Given the description of an element on the screen output the (x, y) to click on. 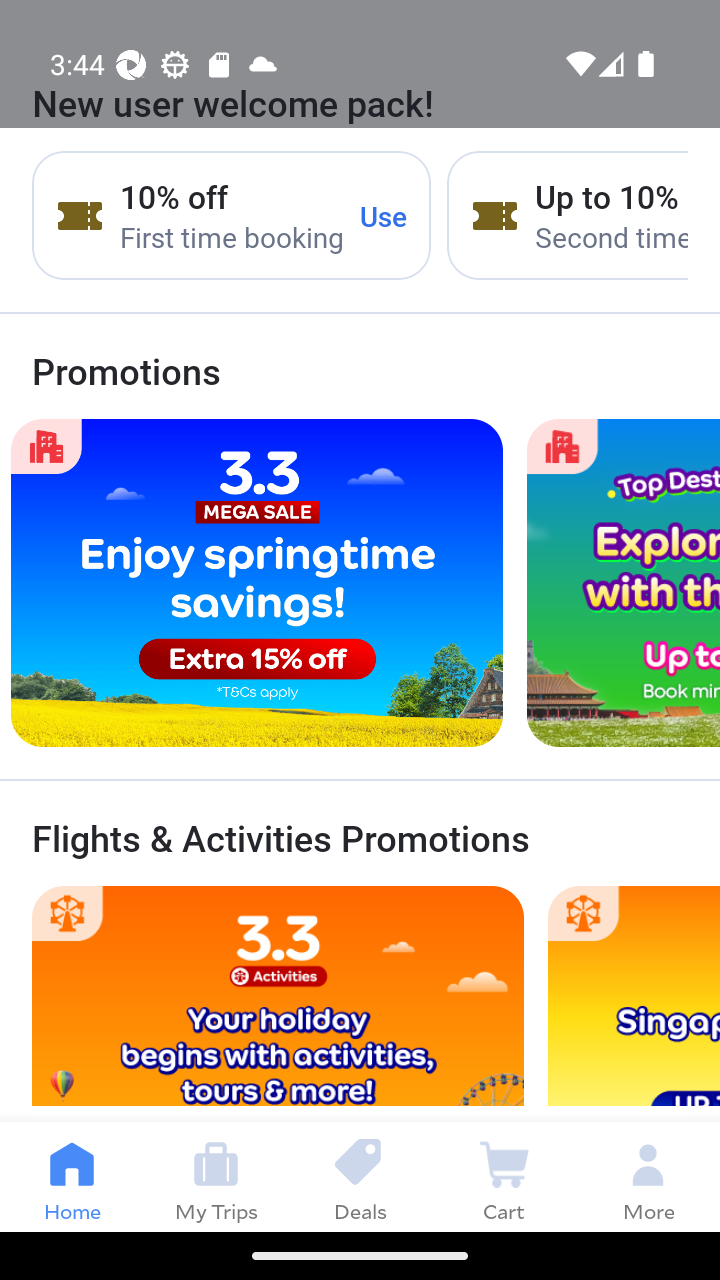
Use (384, 215)
Home (72, 1176)
My Trips (216, 1176)
Deals (360, 1176)
Cart (504, 1176)
More (648, 1176)
